Given the description of an element on the screen output the (x, y) to click on. 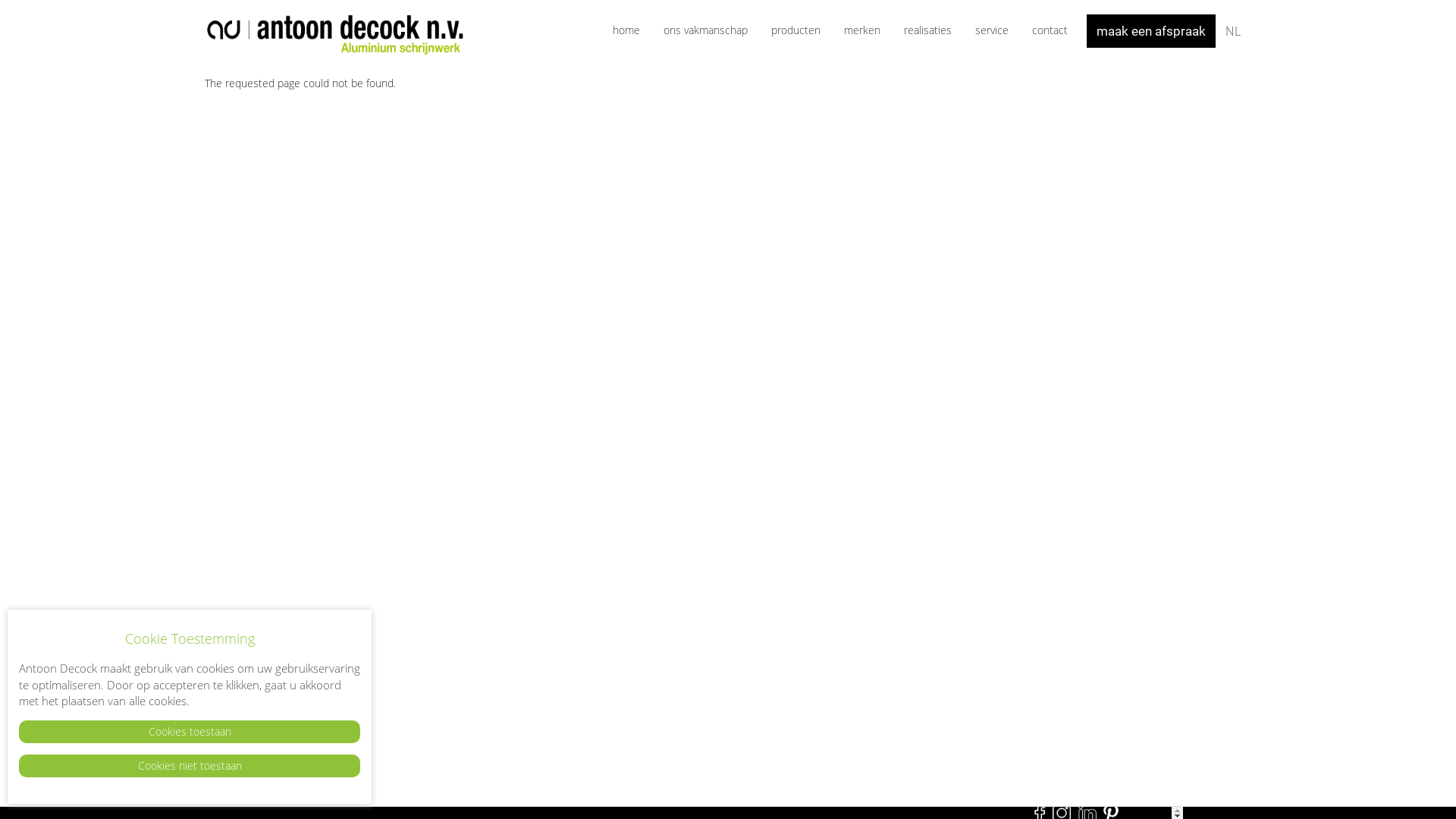
merken Element type: text (861, 30)
producten Element type: text (795, 30)
home Element type: text (626, 30)
contact Element type: text (1049, 30)
maak een afspraak Element type: text (1150, 30)
Cookies toestaan Element type: text (189, 731)
service Element type: text (991, 30)
realisaties Element type: text (927, 30)
Cookies niet toestaan Element type: text (189, 765)
Skip to main content Element type: text (0, 0)
NL Element type: text (1232, 31)
ons vakmanschap Element type: text (705, 30)
